Given the description of an element on the screen output the (x, y) to click on. 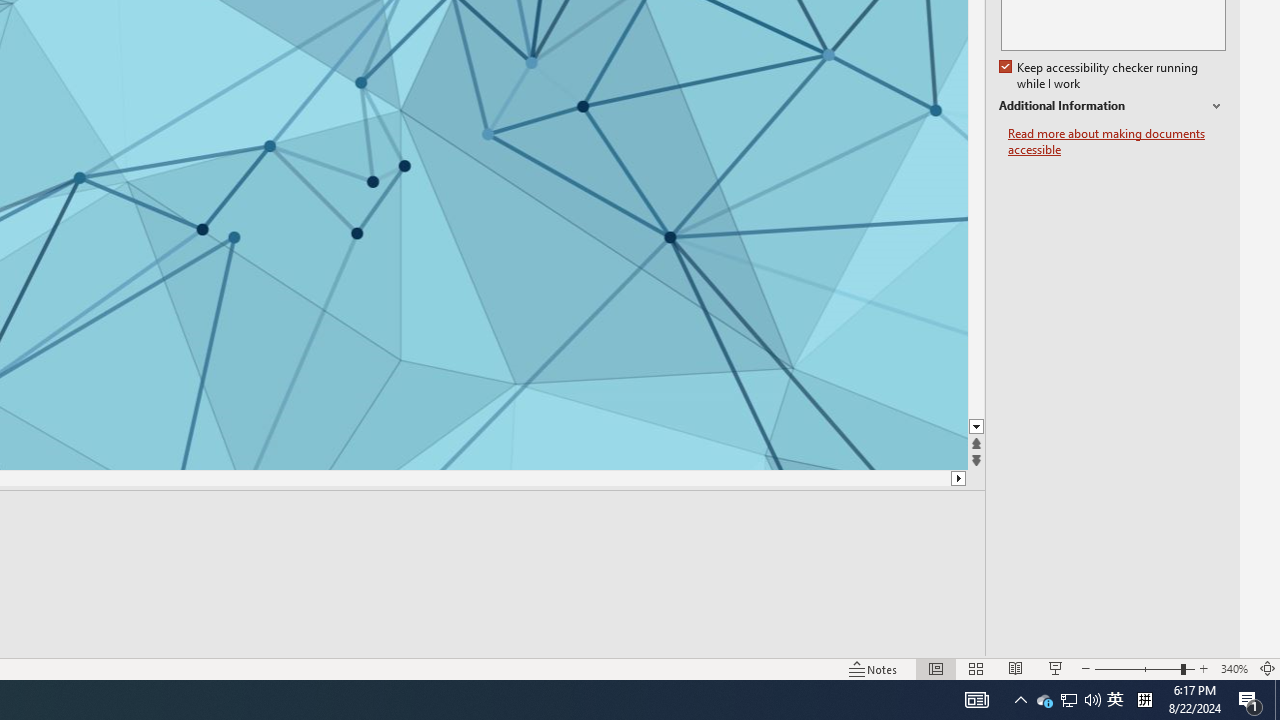
Action Center, 1 new notification (1250, 699)
Zoom 340% (1234, 668)
